Given the description of an element on the screen output the (x, y) to click on. 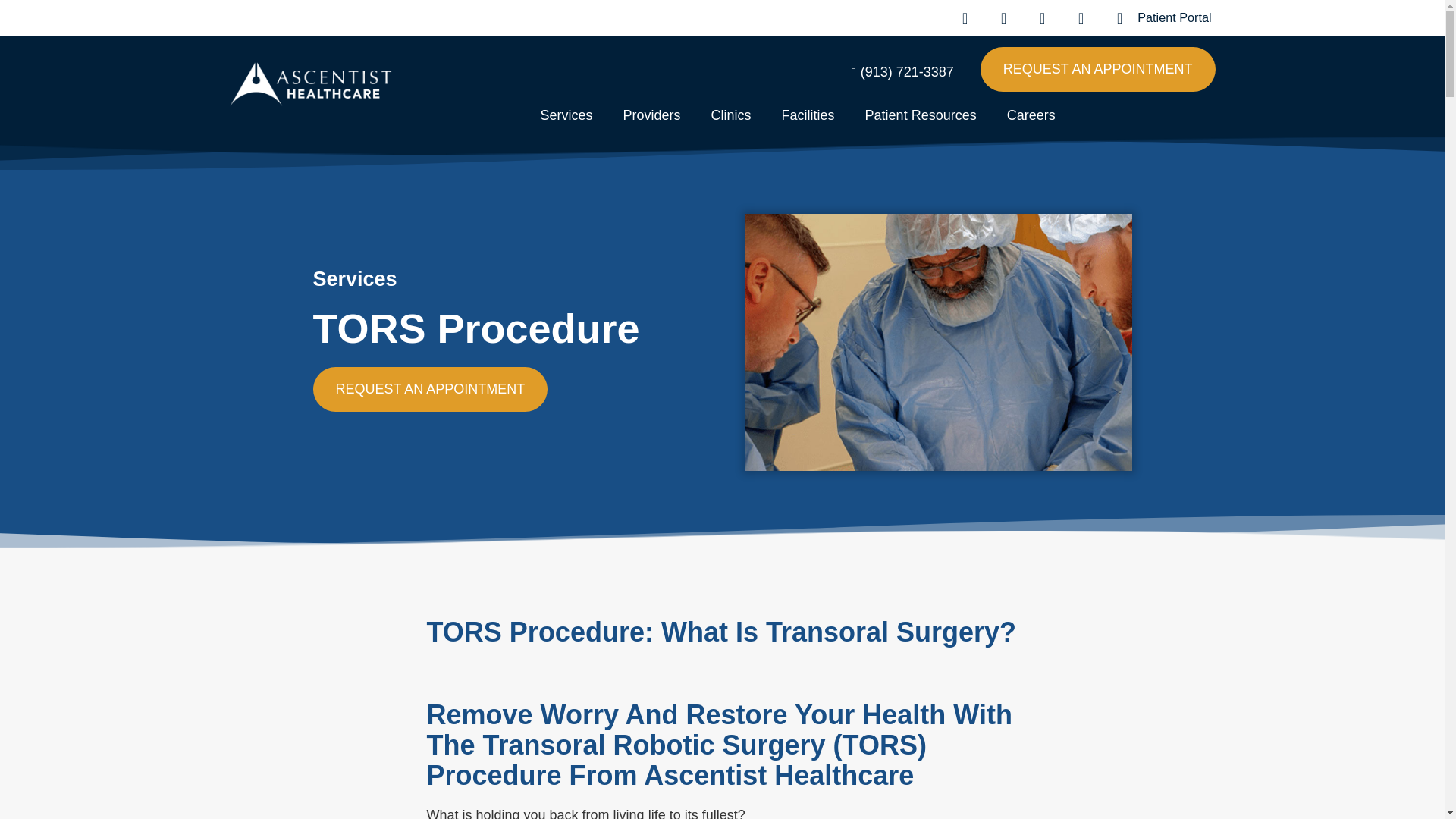
Patient Portal (1157, 17)
Clinics (731, 114)
Providers (651, 114)
Services (565, 114)
REQUEST AN APPOINTMENT (1097, 68)
